Given the description of an element on the screen output the (x, y) to click on. 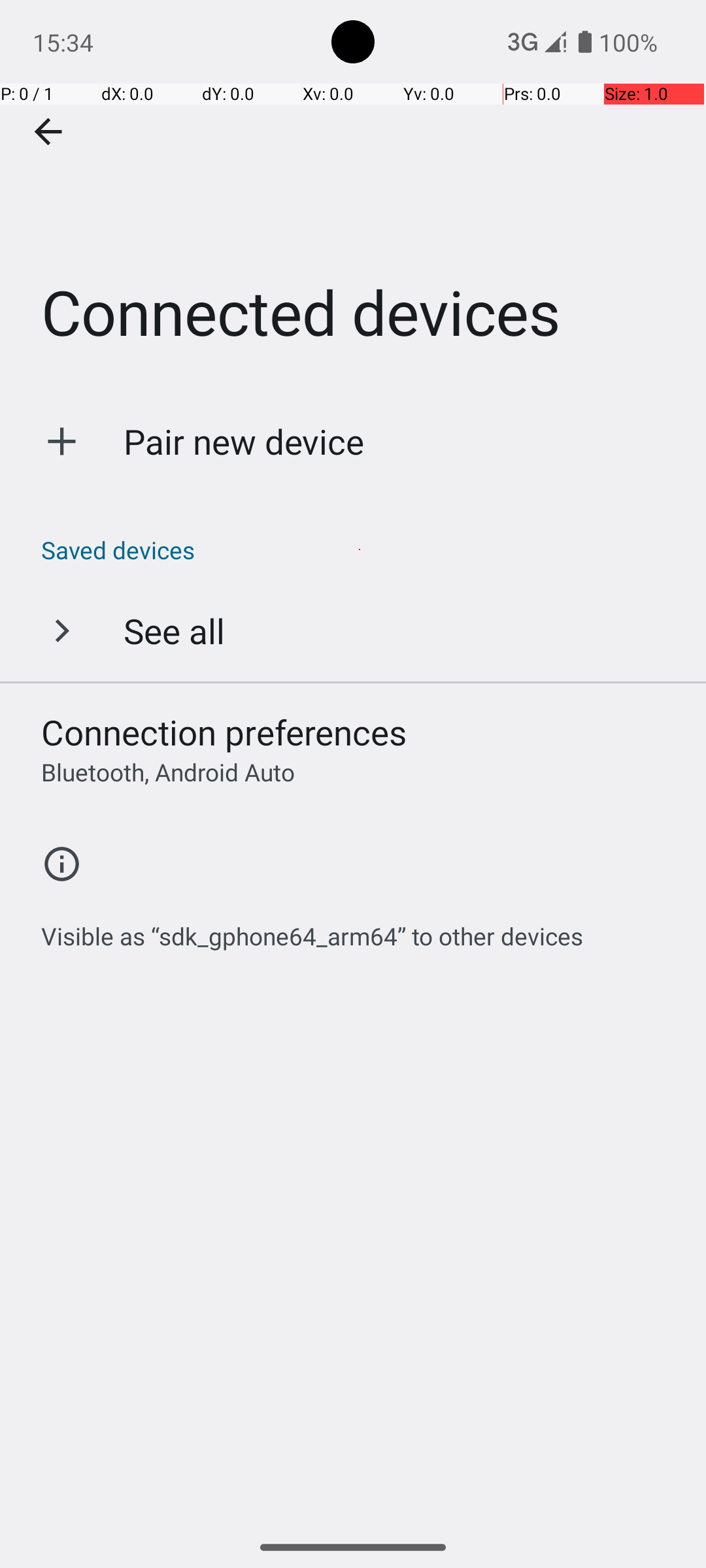
Pair new device Element type: android.widget.TextView (243, 441)
Saved devices Element type: android.widget.TextView (359, 549)
See all Element type: android.widget.TextView (173, 630)
Connection preferences Element type: android.widget.TextView (224, 731)
Bluetooth, Android Auto Element type: android.widget.TextView (167, 771)
Visible as “sdk_gphone64_arm64” to other devices Element type: android.widget.TextView (312, 928)
